Given the description of an element on the screen output the (x, y) to click on. 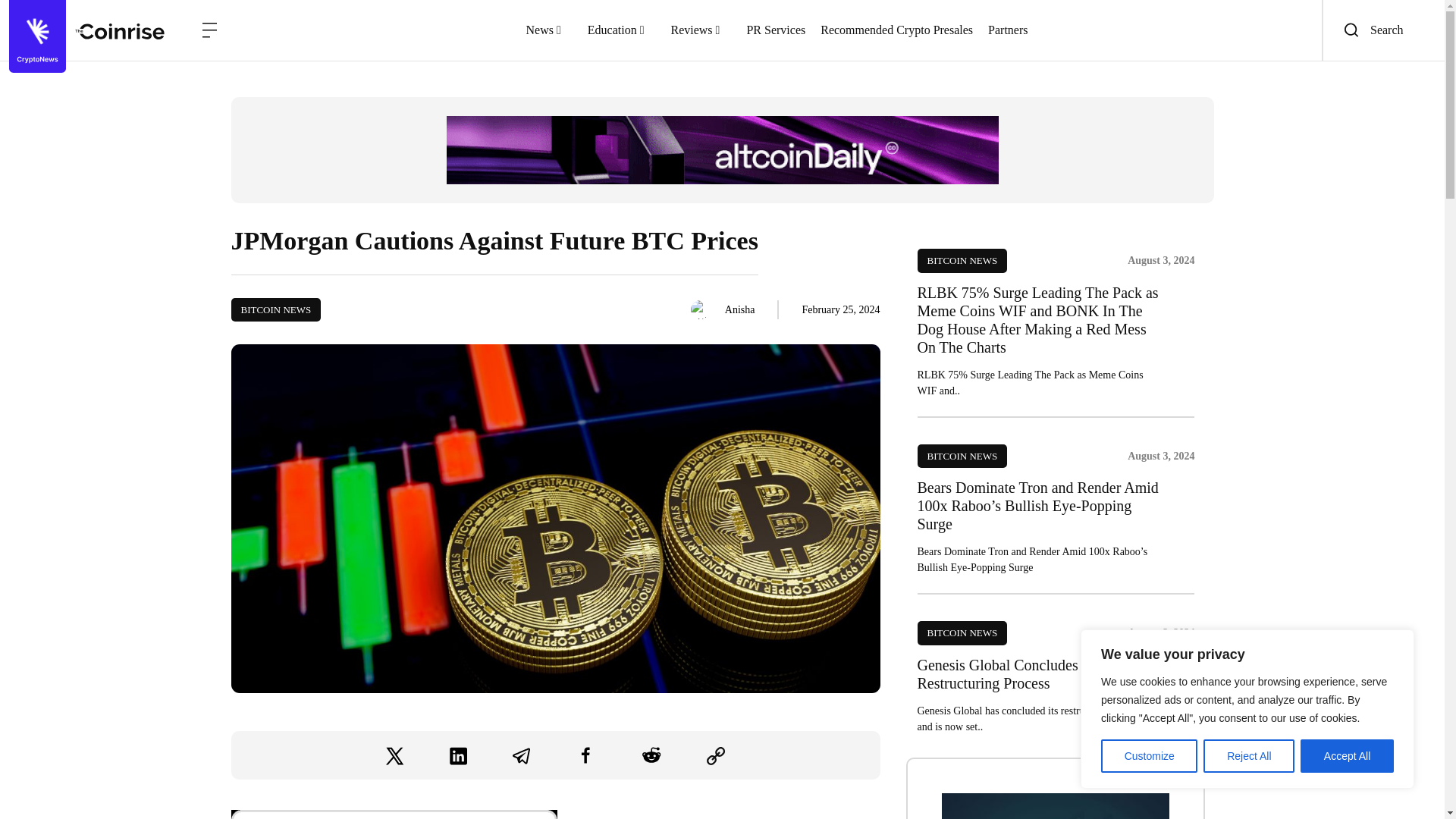
Reject All (1249, 756)
News (548, 29)
Customize (1148, 756)
Reviews (699, 29)
Accept All (1346, 756)
Education (622, 29)
